Given the description of an element on the screen output the (x, y) to click on. 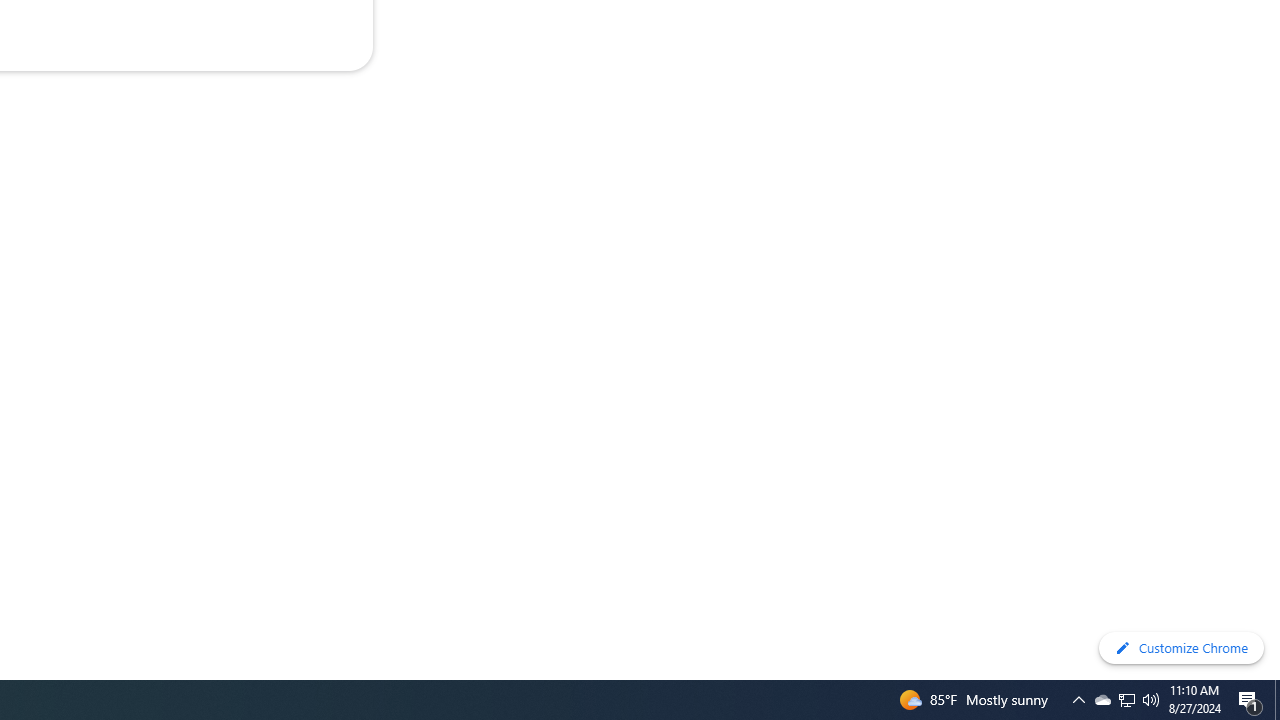
Customize Chrome (1181, 647)
